Given the description of an element on the screen output the (x, y) to click on. 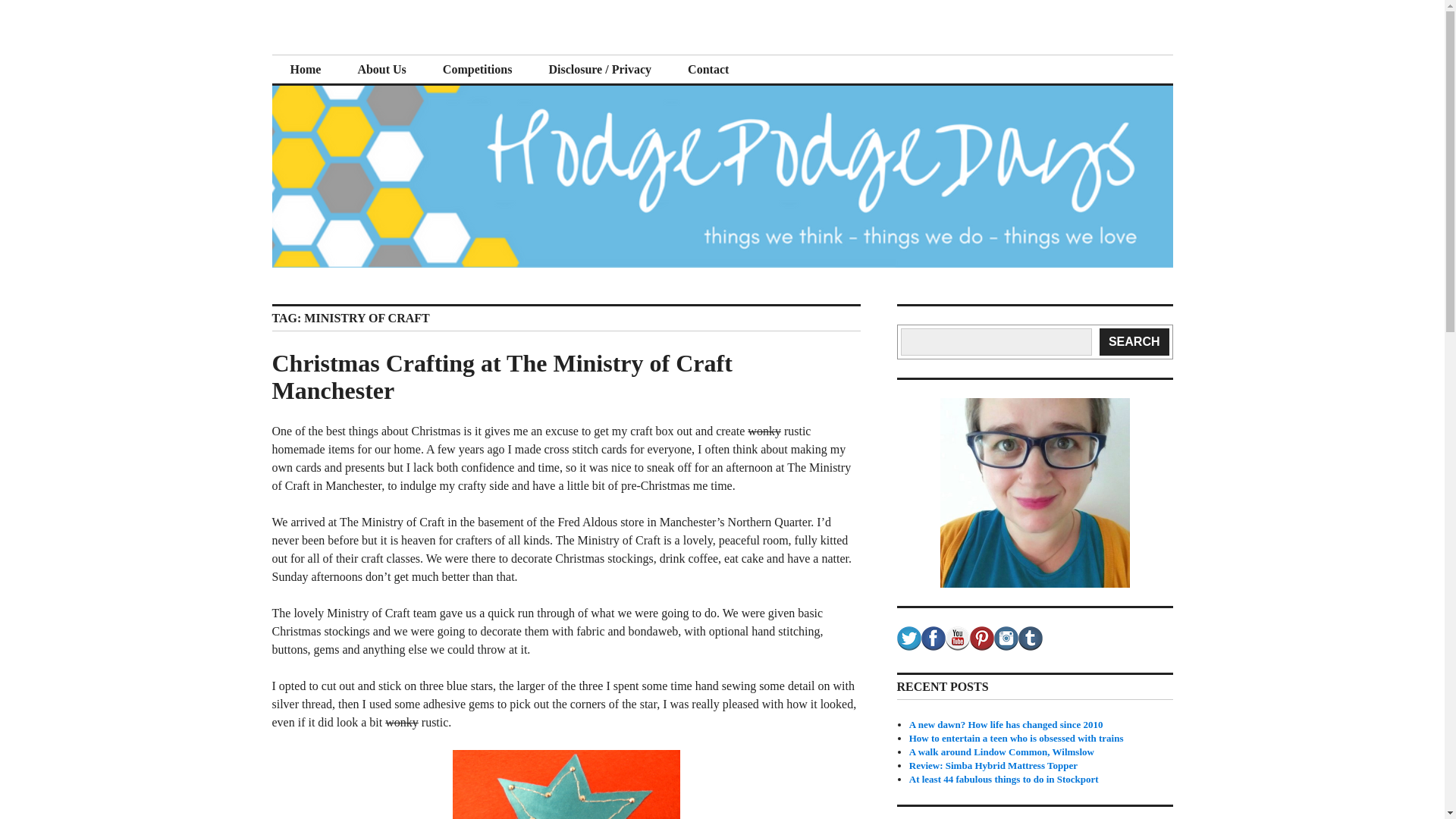
Christmas Crafting at The Ministry of Craft Manchester (501, 376)
Review: Simba Hybrid Mattress Topper (992, 765)
A new dawn? How life has changed since 2010 (1005, 724)
Home (304, 69)
How to entertain a teen who is obsessed with trains (1016, 737)
SEARCH (1134, 341)
HodgePodgeDays (384, 53)
At least 44 fabulous things to do in Stockport (1003, 778)
A walk around Lindow Common, Wilmslow (1001, 751)
About Us (381, 69)
